Given the description of an element on the screen output the (x, y) to click on. 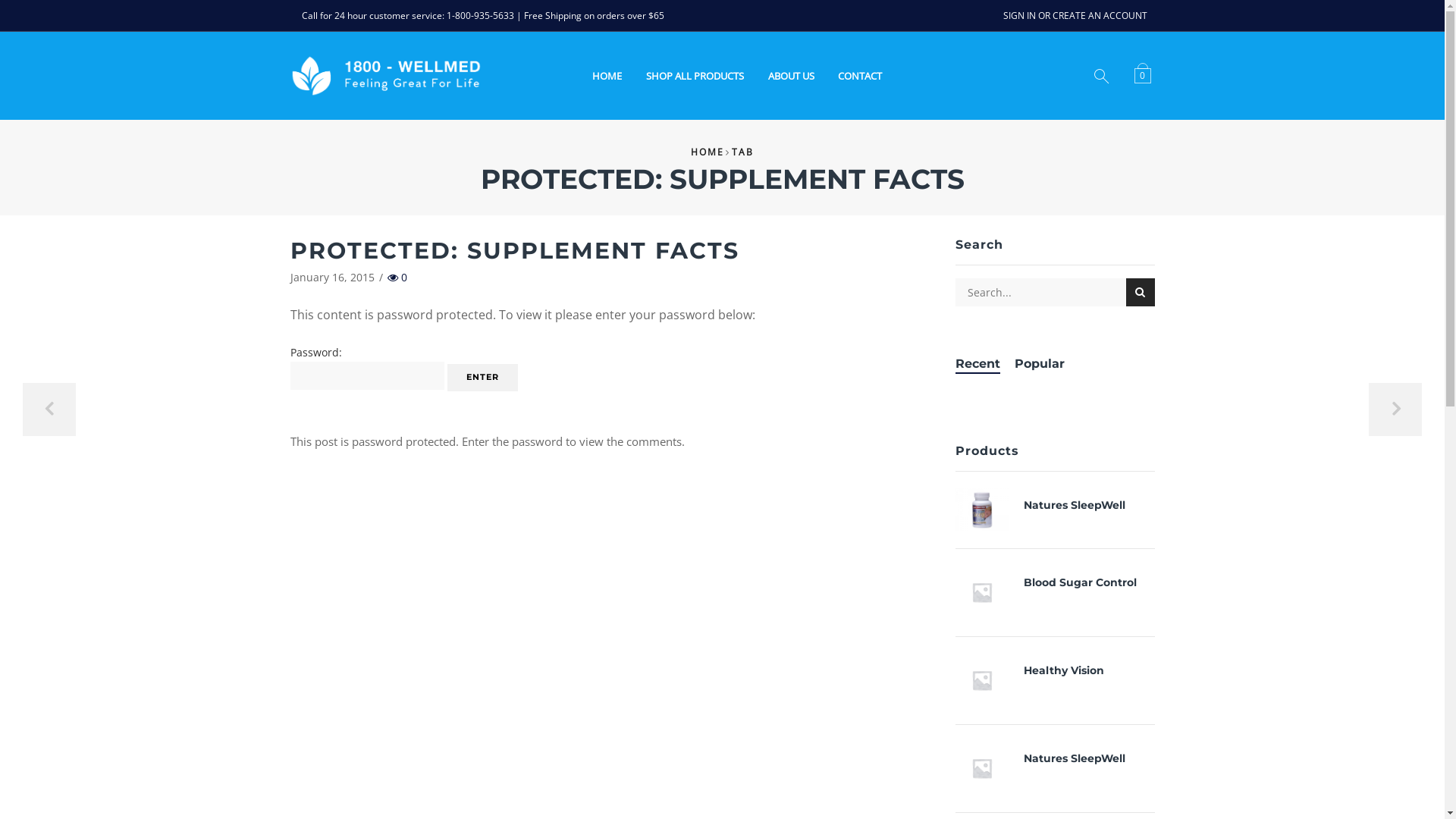
HOME Element type: text (606, 76)
Natures SleepWell Element type: hover (989, 767)
SIGN IN OR CREATE AN ACCOUNT Element type: text (1074, 15)
Blood Sugar Control Element type: text (1079, 582)
ABOUT US Element type: text (791, 76)
Enter Element type: text (482, 377)
Recent Element type: text (977, 363)
Natures SleepWell Element type: hover (989, 509)
Natures SleepWell Element type: text (1074, 758)
Blood Sugar Control Element type: hover (989, 591)
PREVIOUS Element type: text (48, 409)
SEARCH Element type: text (1140, 292)
Popular Element type: text (1039, 363)
TAB Element type: text (742, 151)
HOME Element type: text (707, 151)
NEXT Element type: text (1394, 409)
CONTACT Element type: text (859, 76)
SHOP ALL PRODUCTS Element type: text (694, 76)
0 Element type: text (1144, 74)
Healthy Vision Element type: text (1063, 670)
Natures SleepWell Element type: text (1074, 505)
Healthy Vision Element type: hover (989, 679)
